Given the description of an element on the screen output the (x, y) to click on. 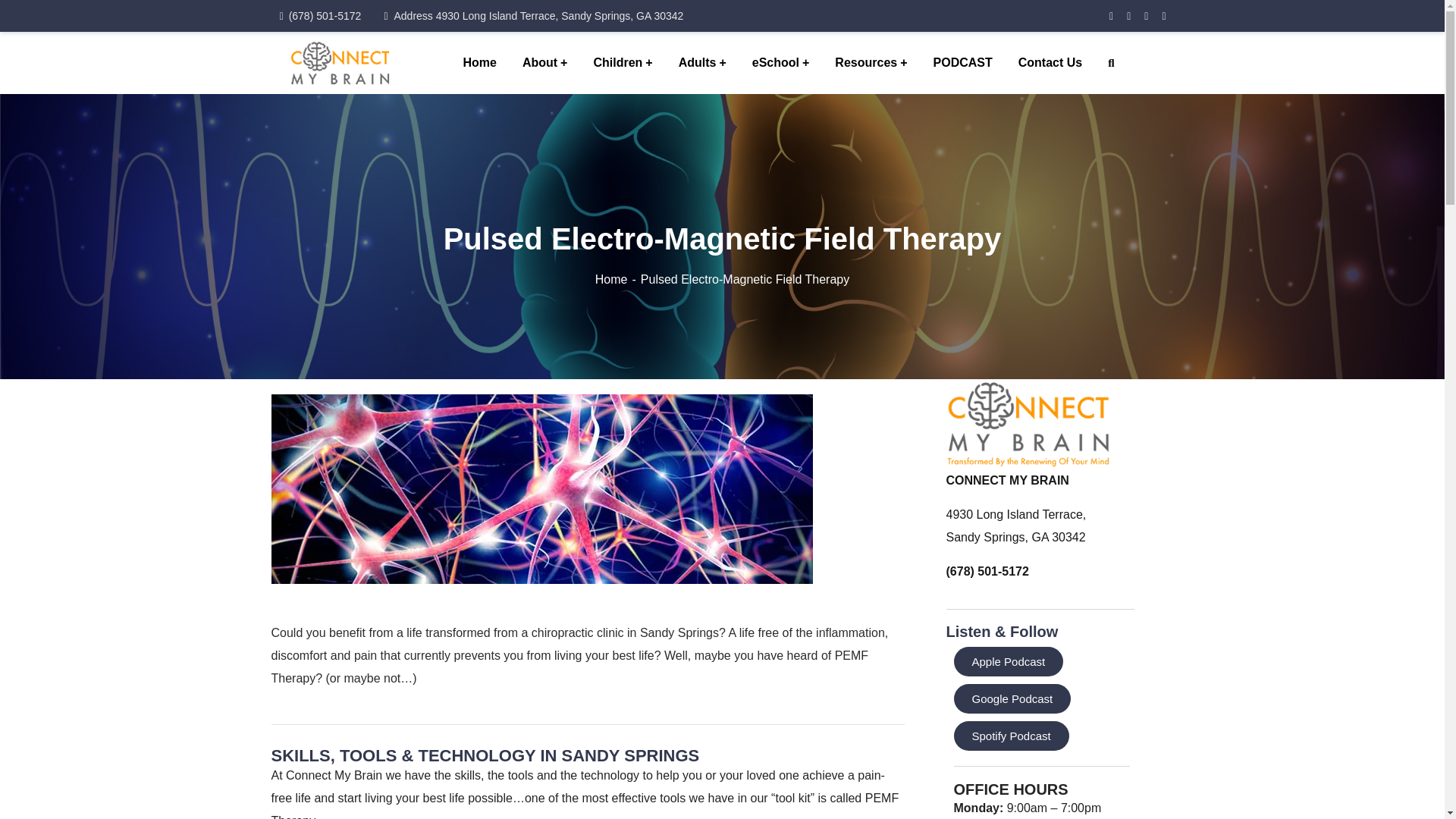
Connect My Brain with Dr. Laura Hanson (339, 61)
Children (622, 62)
Address 4930 Long Island Terrace, Sandy Springs, GA 30342 (533, 15)
eSchool (780, 62)
Resources (870, 62)
